Given the description of an element on the screen output the (x, y) to click on. 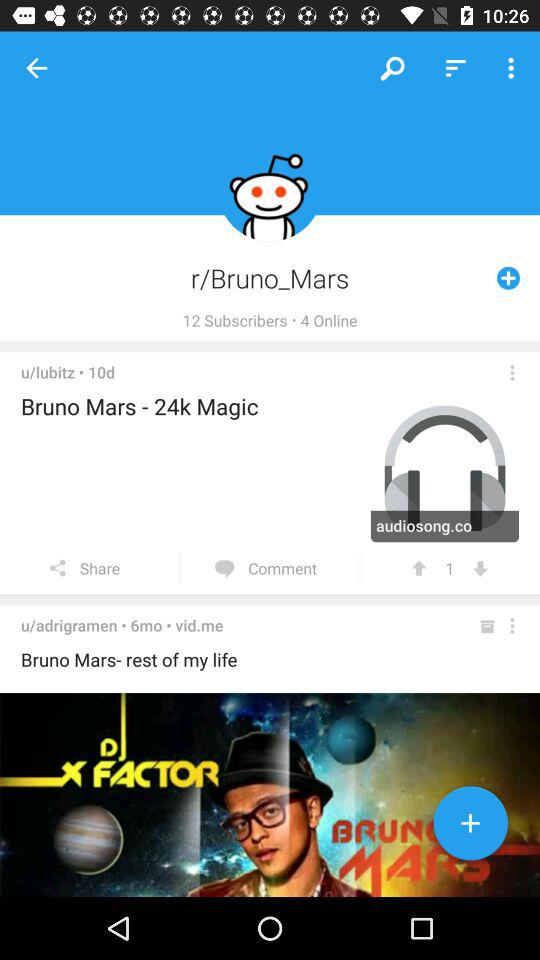
new (470, 827)
